Given the description of an element on the screen output the (x, y) to click on. 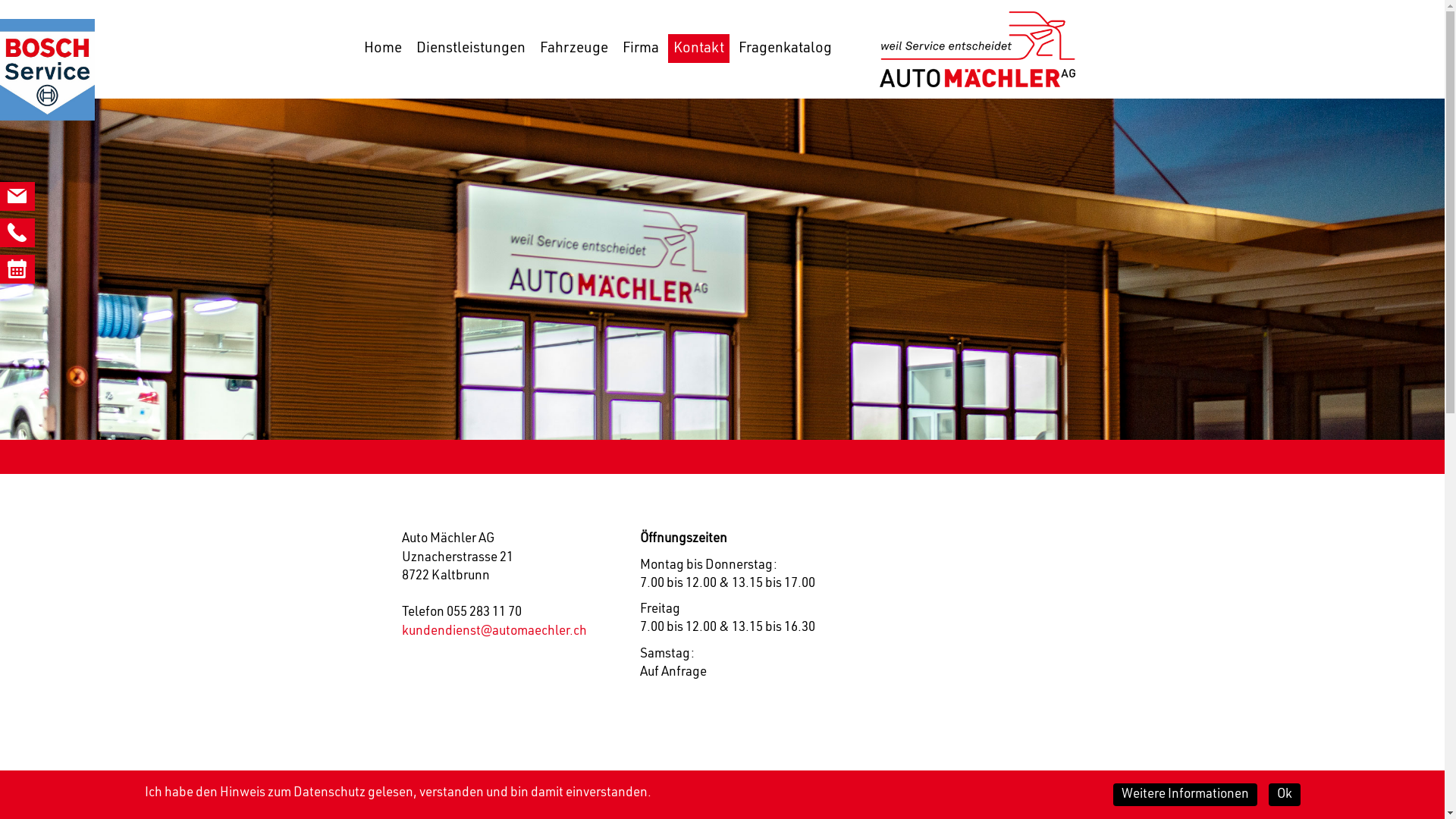
Fahrzeuge Element type: text (572, 48)
Weitere Informationen Element type: text (1185, 794)
Firma Element type: text (640, 48)
Fragenkatalog Element type: text (784, 48)
Dienstleistungen Element type: text (470, 48)
kundendienst@automaechler.ch Element type: text (493, 630)
Ok Element type: text (1283, 794)
Kontakt Element type: text (697, 48)
Home Element type: text (381, 48)
